Given the description of an element on the screen output the (x, y) to click on. 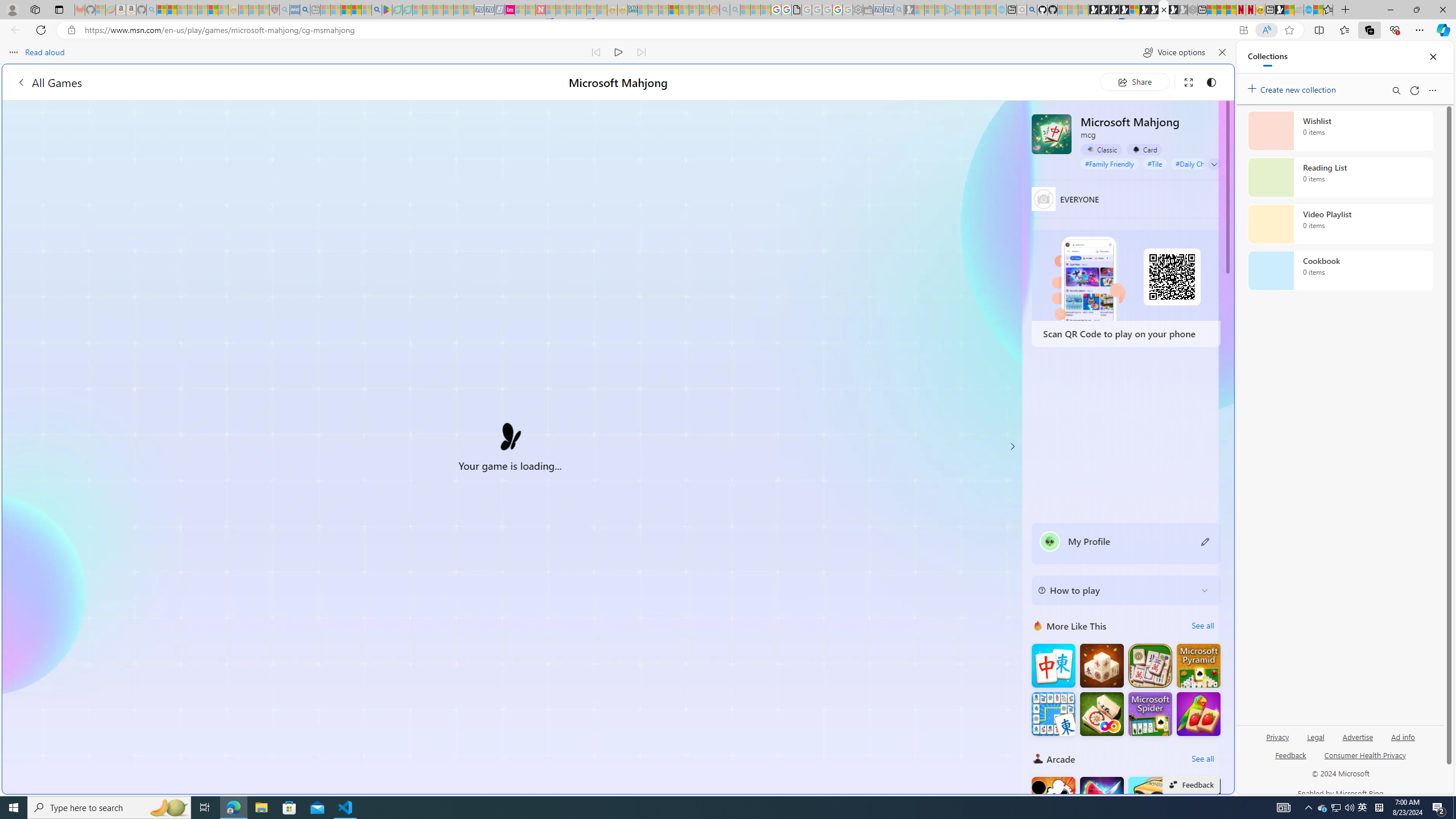
Add this page to favorites (Ctrl+D) (1289, 29)
World - MSN (727, 389)
Refresh (1414, 90)
Mahjong Big (1053, 665)
14 Common Myths Debunked By Scientific Facts - Sleeping (560, 9)
Feedback (1290, 754)
Tabs you've opened (885, 151)
Play Free Online Games | Games from Microsoft Start (1093, 9)
MSNBC - MSN - Sleeping (642, 9)
Latest Politics News & Archive | Newsweek.com - Sleeping (539, 9)
